Given the description of an element on the screen output the (x, y) to click on. 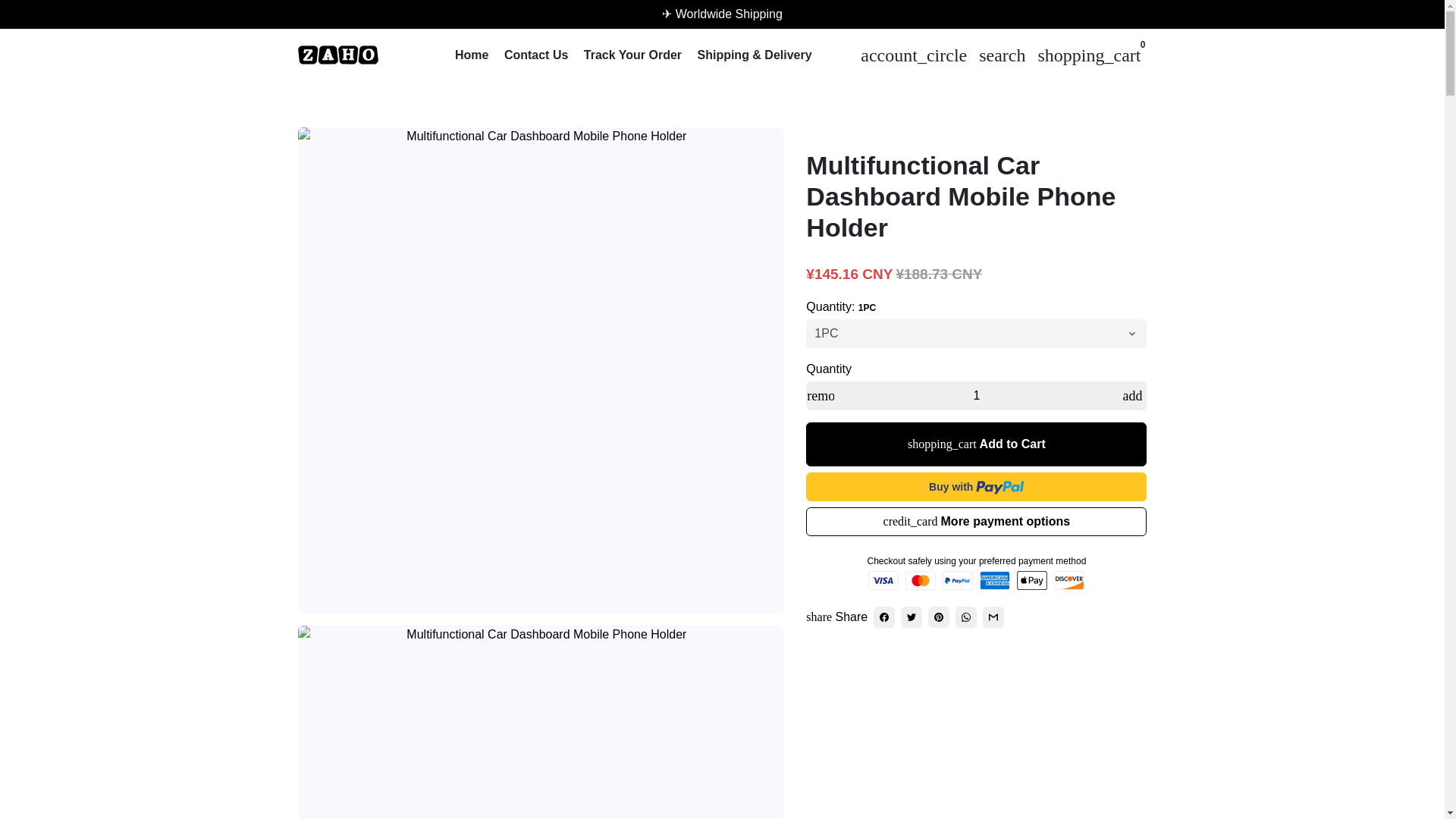
Log In (913, 54)
remove (820, 395)
add (1132, 395)
Home (471, 54)
Pin on Pinterest (938, 617)
Share by Email (993, 617)
1 (976, 395)
Cart (1089, 54)
Increase item quantity by one (1132, 395)
Contact Us (535, 54)
Tweet on Twitter (911, 617)
Share on Whatsapp (965, 617)
search (1001, 54)
Reduce item quantity by one (820, 395)
